Given the description of an element on the screen output the (x, y) to click on. 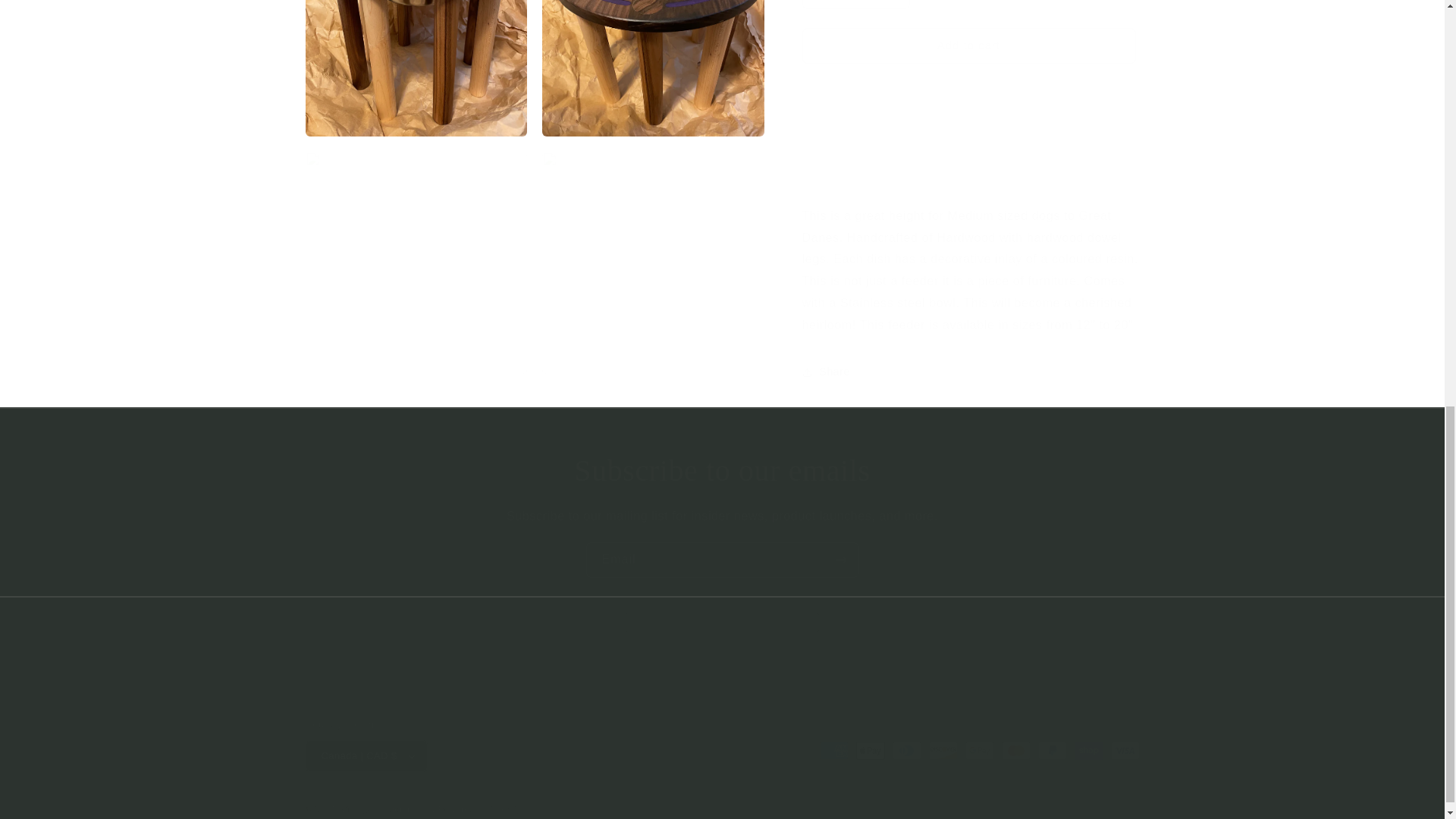
Open media 2 in modal (415, 61)
Email (722, 560)
Open media 4 in modal (415, 247)
Open media 5 in modal (652, 247)
Subscribe to our emails (721, 470)
Open media 3 in modal (652, 61)
